Given the description of an element on the screen output the (x, y) to click on. 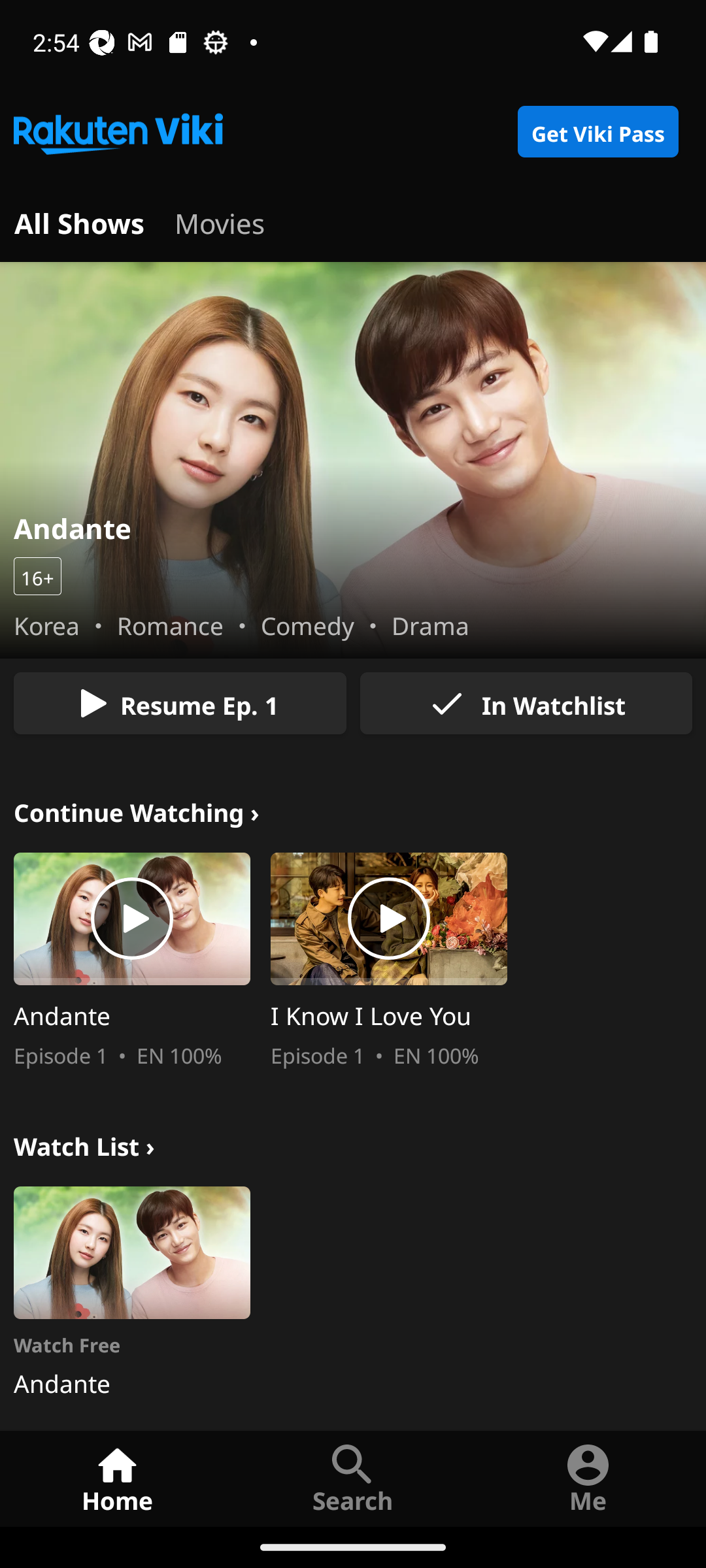
Get Viki Pass (597, 131)
home_tab_movies Movies (219, 220)
Resume Ep. 1 home_billboard_play_button (179, 702)
In Watchlist home_billboard_in_watchlist_button (526, 702)
Continue Watching › continue_watching (136, 809)
Watch List › watch_list (84, 1143)
Search (352, 1478)
Me (588, 1478)
